Given the description of an element on the screen output the (x, y) to click on. 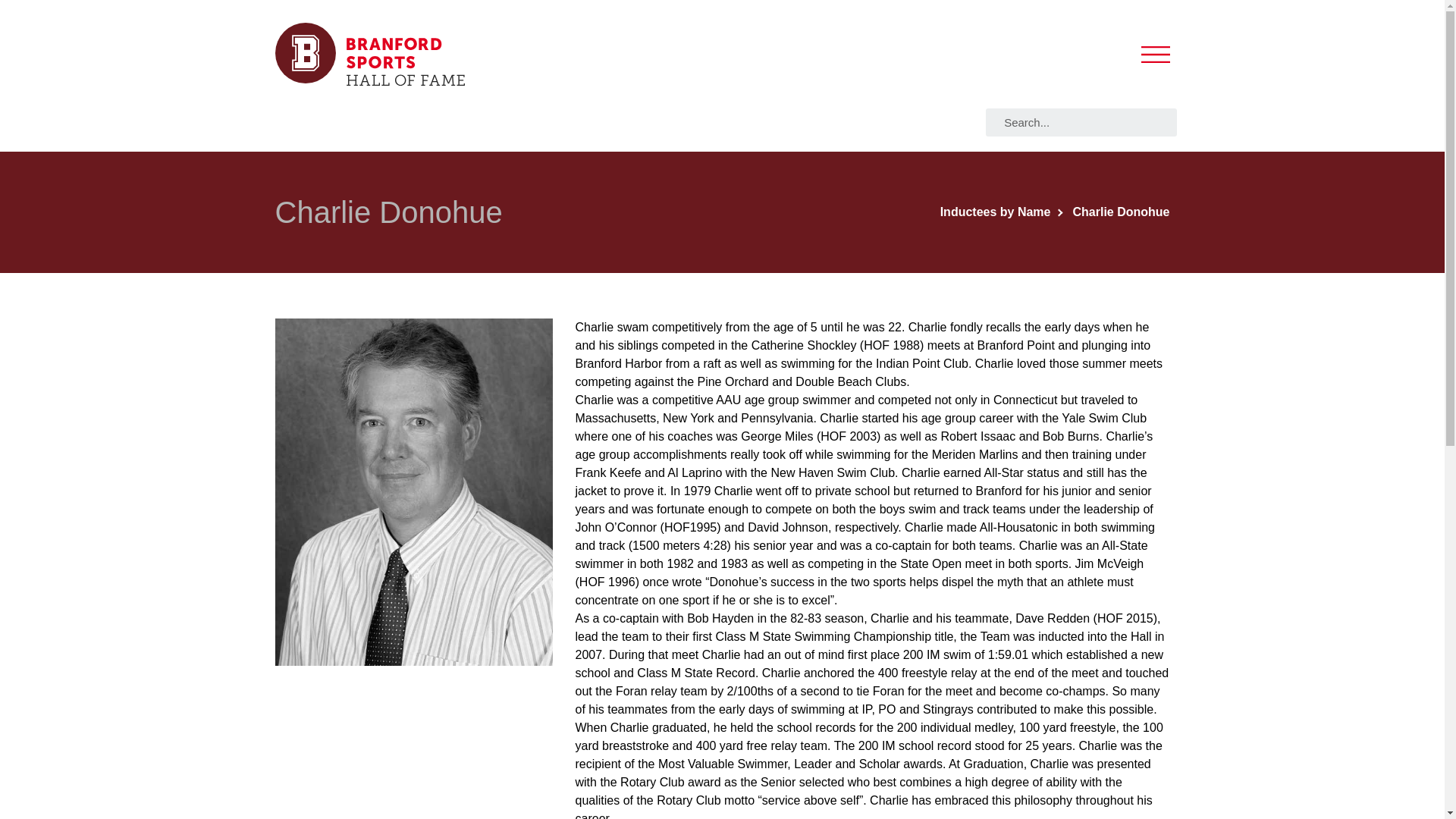
Inductees by Name (1001, 211)
Search (1085, 122)
